Given the description of an element on the screen output the (x, y) to click on. 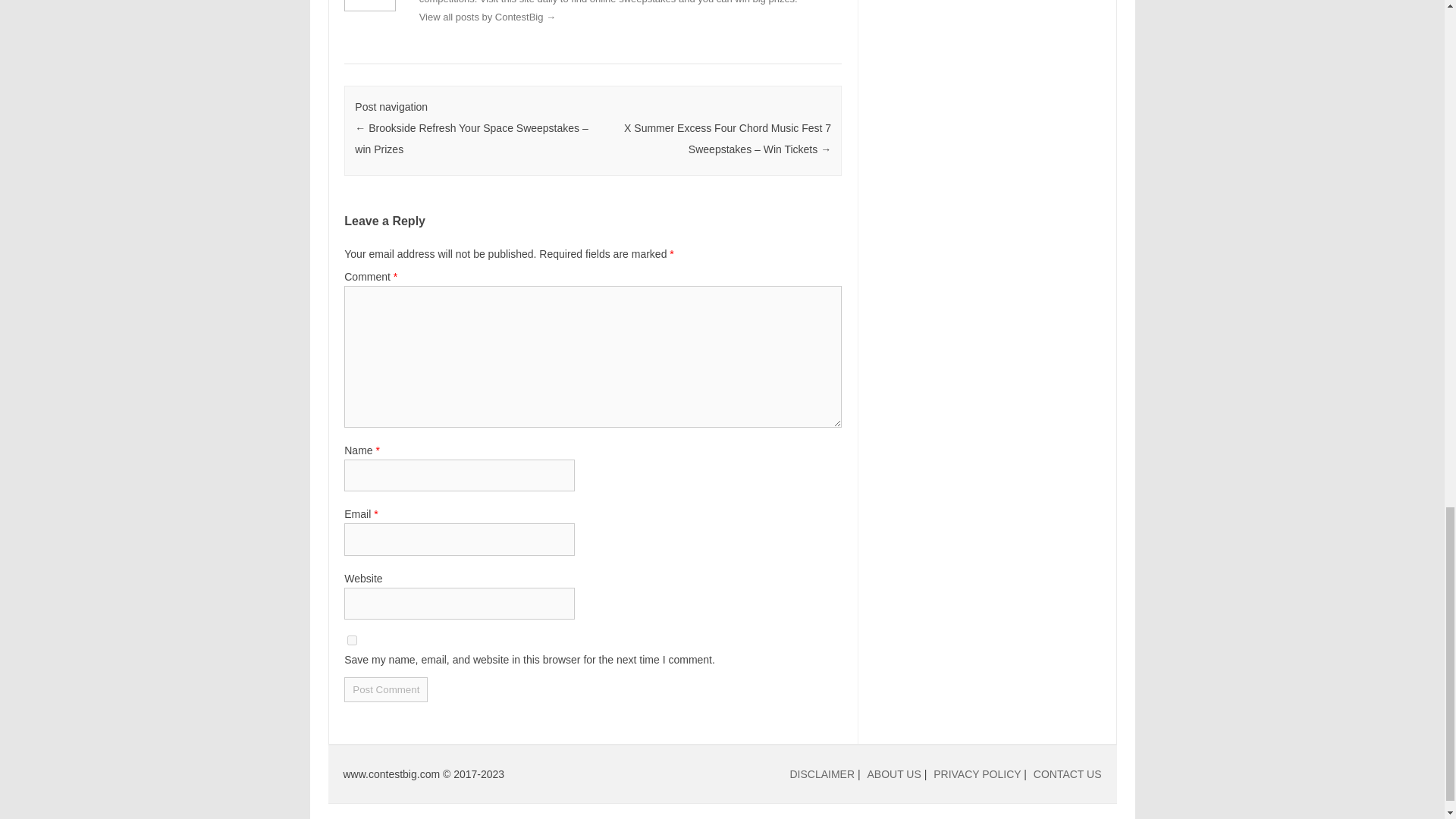
DISCLAIMER (821, 774)
CONTACT US (1067, 774)
Post Comment (385, 689)
PRIVACY POLICY (976, 774)
Post Comment (385, 689)
ABOUT US (894, 774)
yes (351, 640)
